Given the description of an element on the screen output the (x, y) to click on. 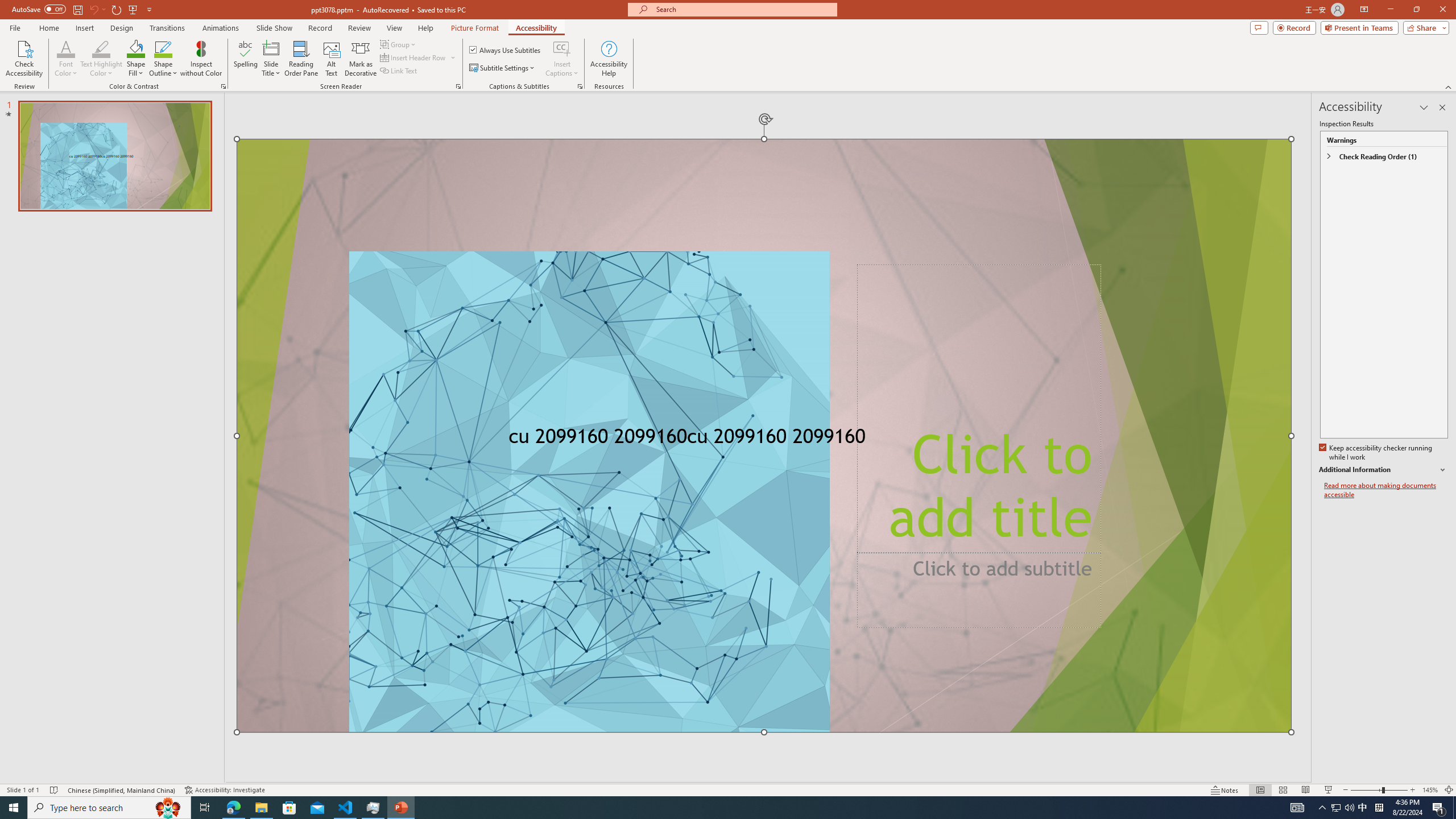
Group (398, 44)
Accessibility Help (608, 58)
Always Use Subtitles (505, 49)
Color & Contrast (223, 85)
